Given the description of an element on the screen output the (x, y) to click on. 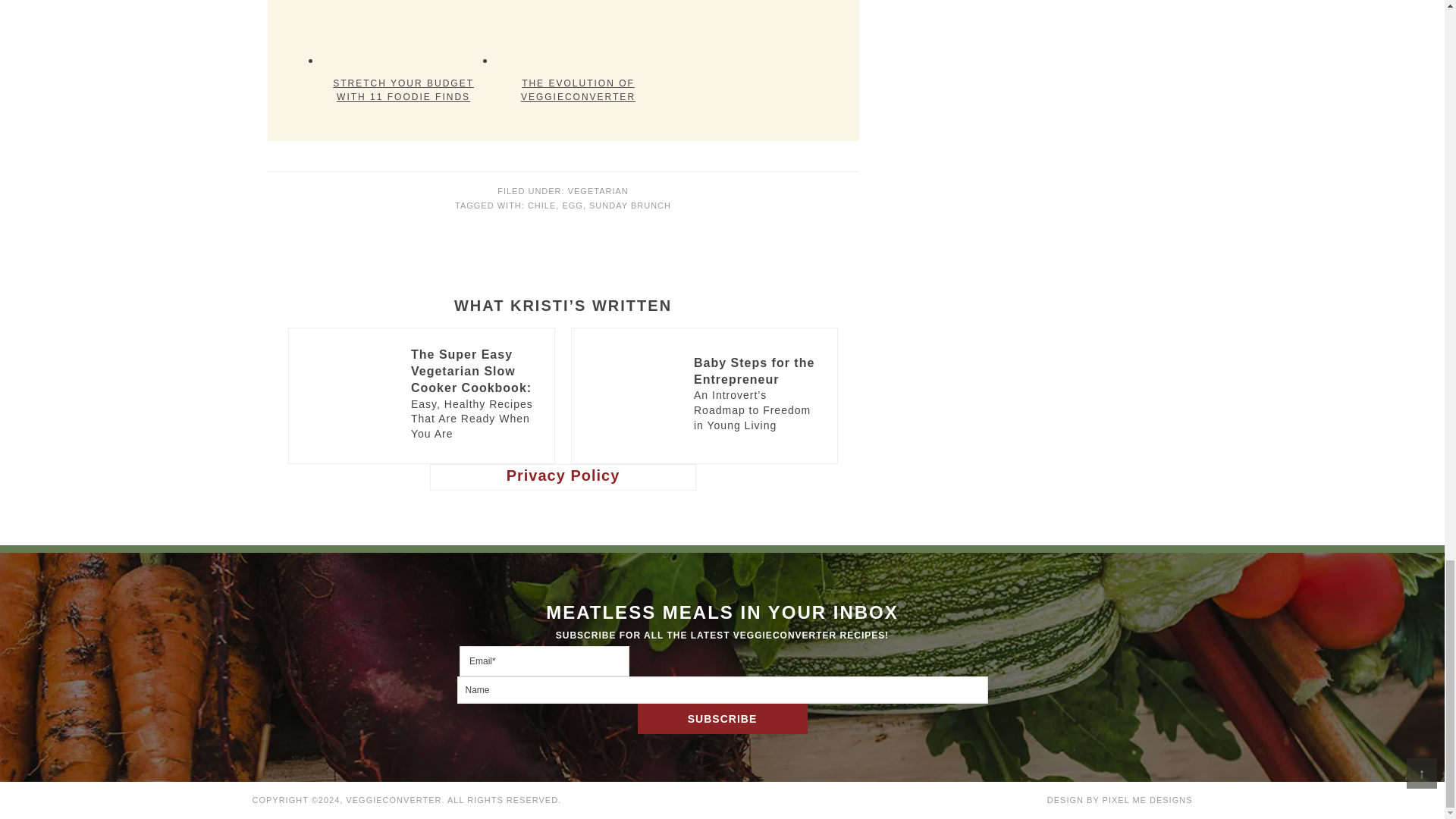
The Evolution of VeggieConverter (578, 33)
Stretch Your Budget with 11 Foodie Finds (403, 33)
